Given the description of an element on the screen output the (x, y) to click on. 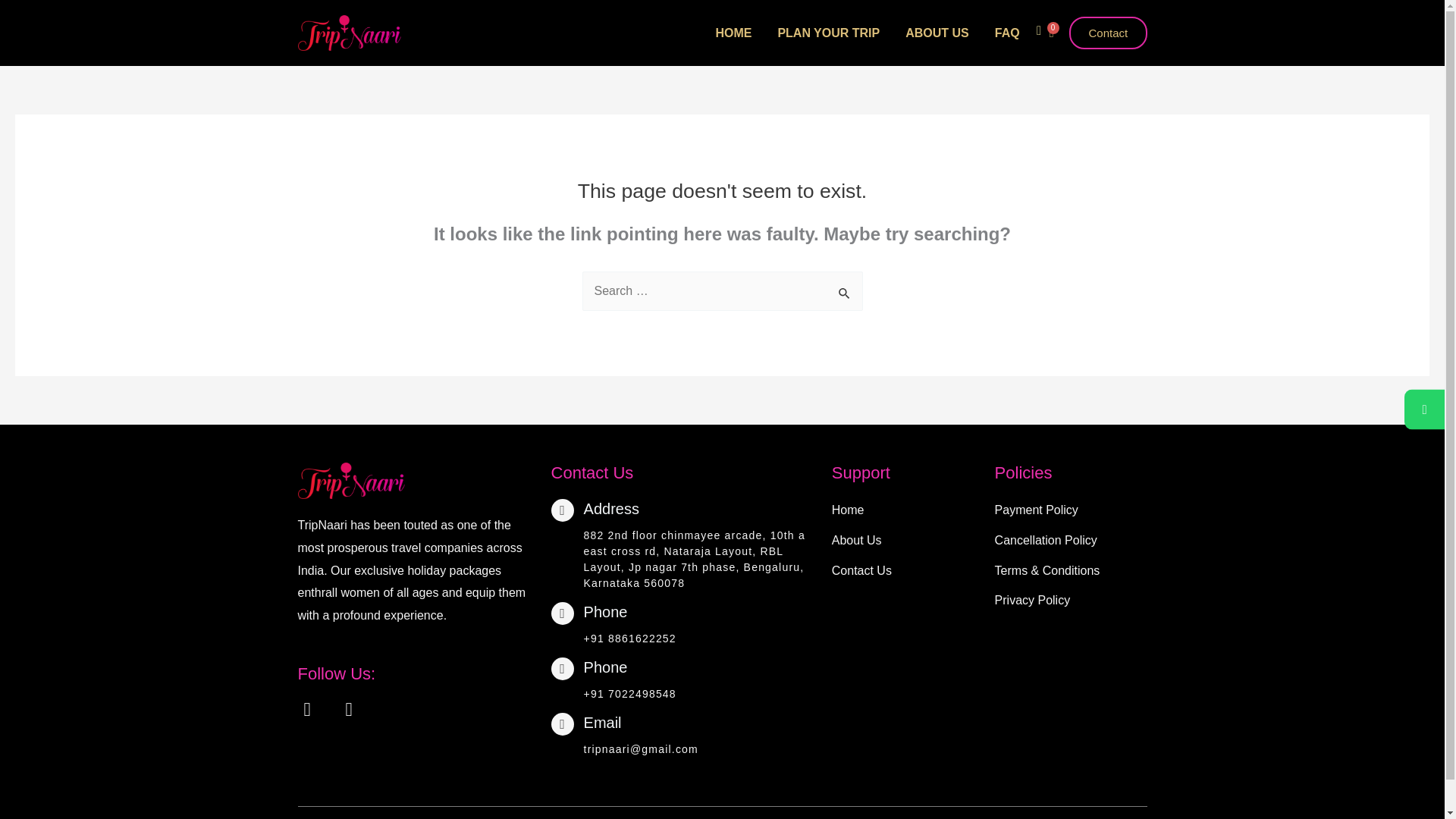
ABOUT US (936, 32)
PLAN YOUR TRIP (828, 32)
HOME (732, 32)
Contact (1108, 32)
FAQ (1006, 32)
